Given the description of an element on the screen output the (x, y) to click on. 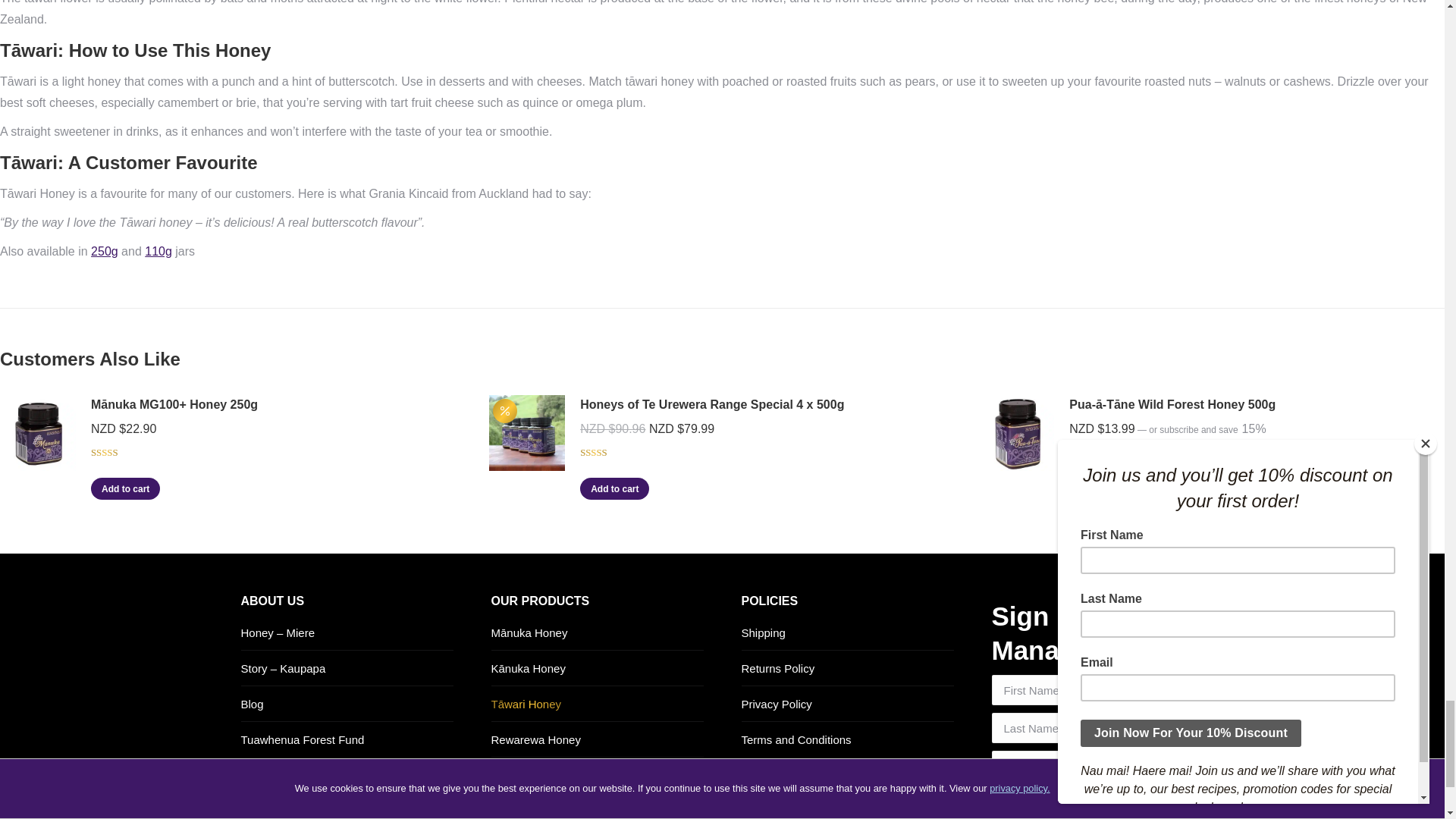
Join Now (1029, 807)
Email Address (1075, 766)
First Name (1075, 689)
Last Name (1075, 727)
